Given the description of an element on the screen output the (x, y) to click on. 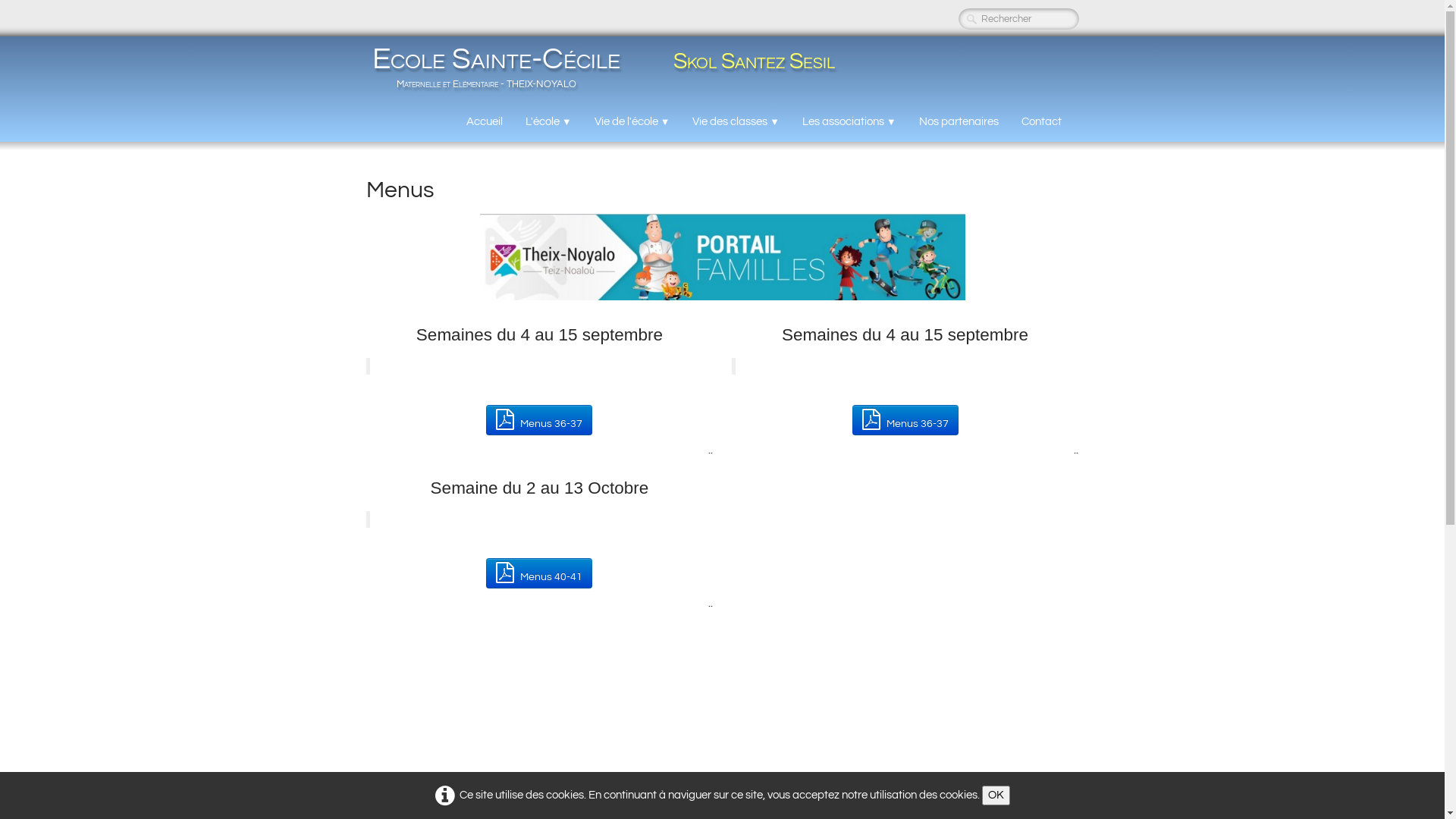
OK Element type: text (995, 795)
Menus 40-41 Element type: text (539, 573)
Menus 36-37 Element type: text (539, 419)
Menus 36-37 Element type: text (905, 419)
Contact Element type: text (1041, 121)
Accueil Element type: text (484, 121)
Nos partenaires Element type: text (957, 121)
